Given the description of an element on the screen output the (x, y) to click on. 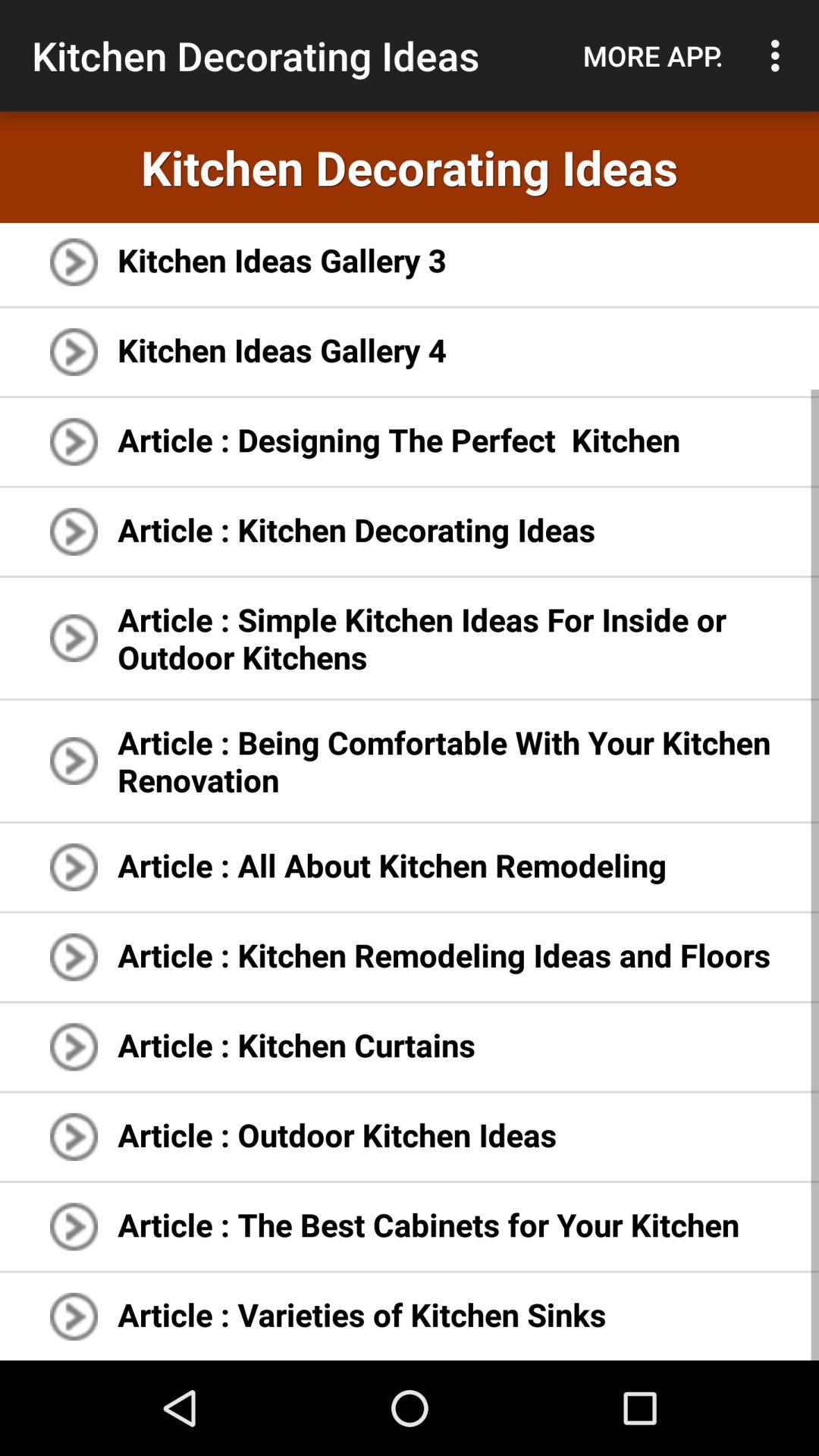
open the item above the kitchen decorating ideas item (779, 55)
